Given the description of an element on the screen output the (x, y) to click on. 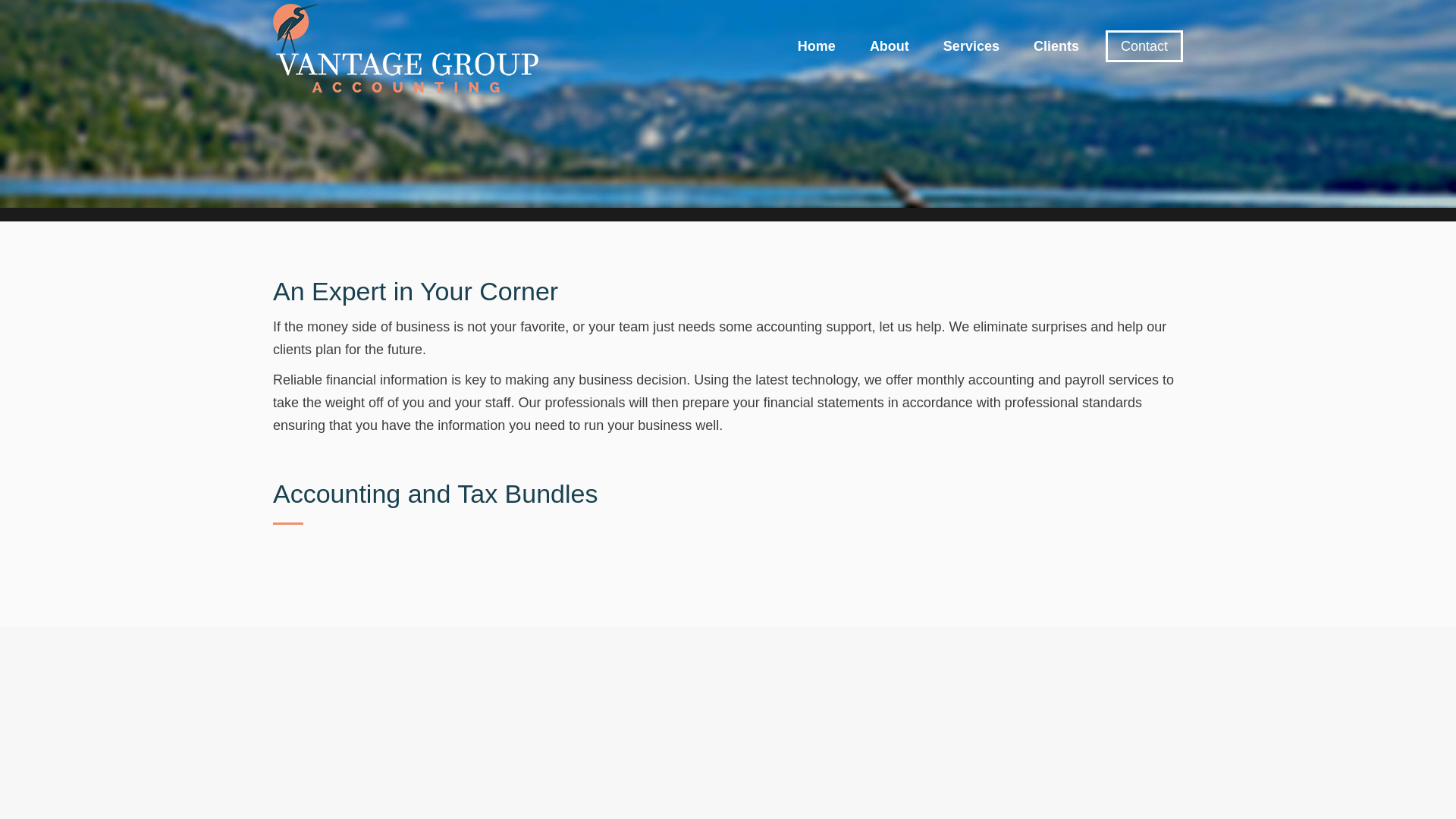
Clients (1056, 45)
Home (816, 45)
Services (970, 45)
Contact (1143, 46)
About (889, 45)
